Given the description of an element on the screen output the (x, y) to click on. 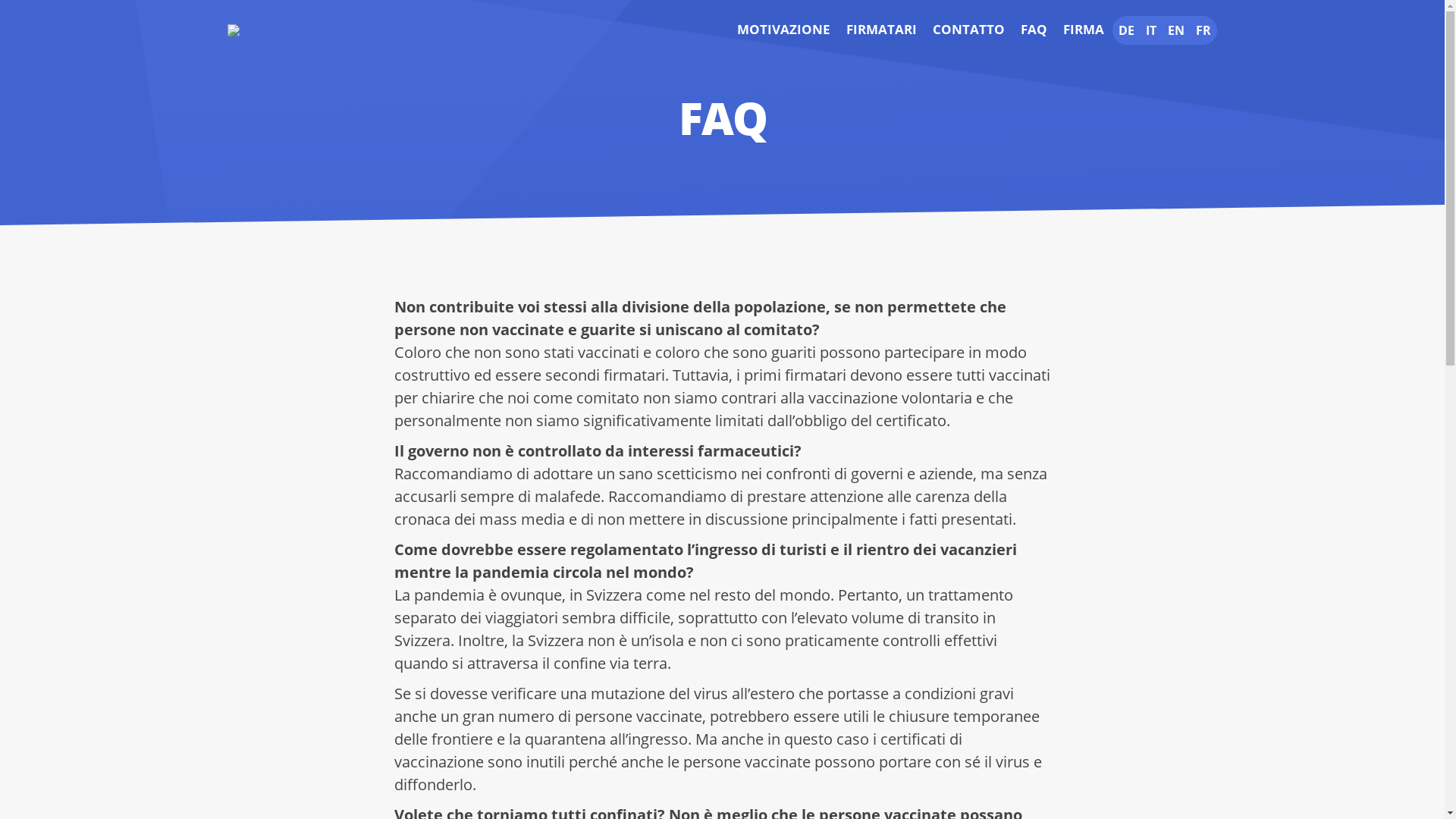
IT Element type: text (1150, 29)
FAQ Element type: text (1033, 29)
CONTATTO Element type: text (968, 29)
MOTIVAZIONE Element type: text (783, 29)
DE Element type: text (1126, 29)
EN Element type: text (1175, 29)
FR Element type: text (1203, 29)
FIRMATARI Element type: text (881, 29)
FIRMA Element type: text (1083, 29)
